Given the description of an element on the screen output the (x, y) to click on. 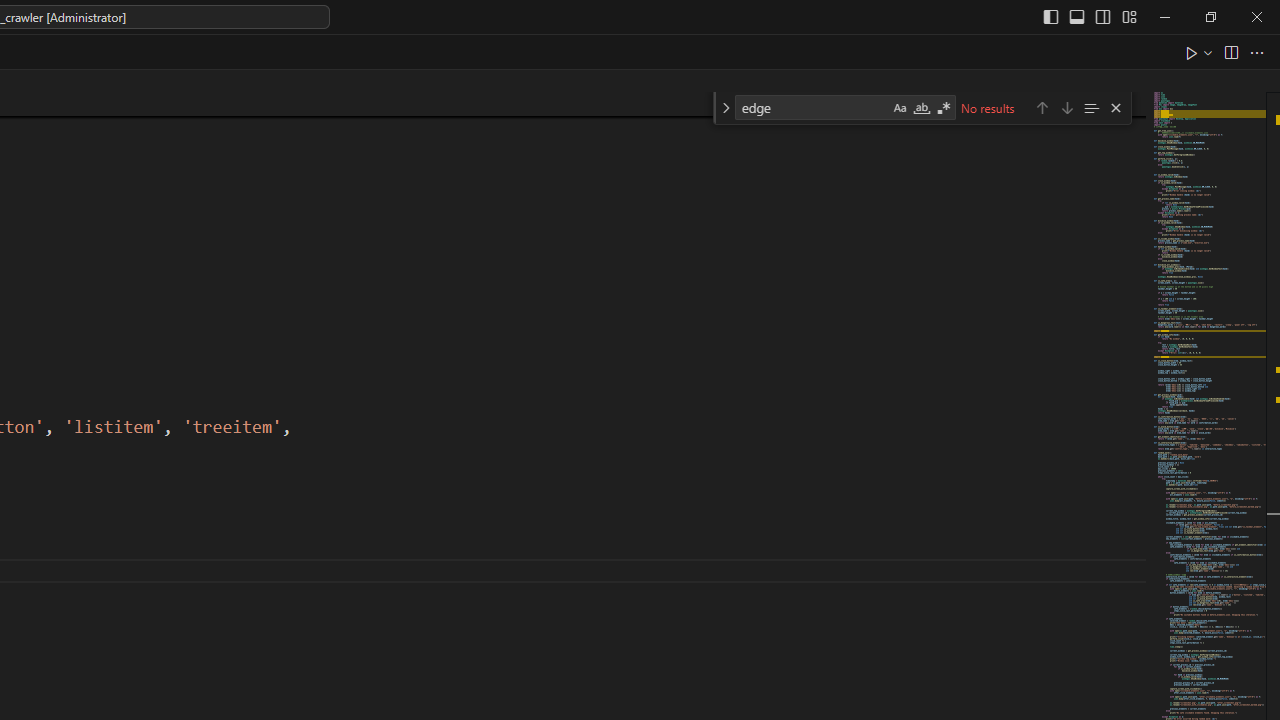
Toggle Panel (Ctrl+J) (1077, 16)
Run Python File (1192, 52)
Toggle Secondary Side Bar (Ctrl+Alt+B) (1102, 16)
More Actions... (1256, 52)
Find in Selection (Alt+L) (1091, 106)
Use Regular Expression (Alt+R) (943, 107)
Match Case (Alt+C) (899, 107)
Restore (1210, 16)
Title actions (1089, 16)
Next Match (Enter) (1066, 106)
Match Whole Word (Alt+W) (921, 107)
Toggle Replace (725, 107)
